Given the description of an element on the screen output the (x, y) to click on. 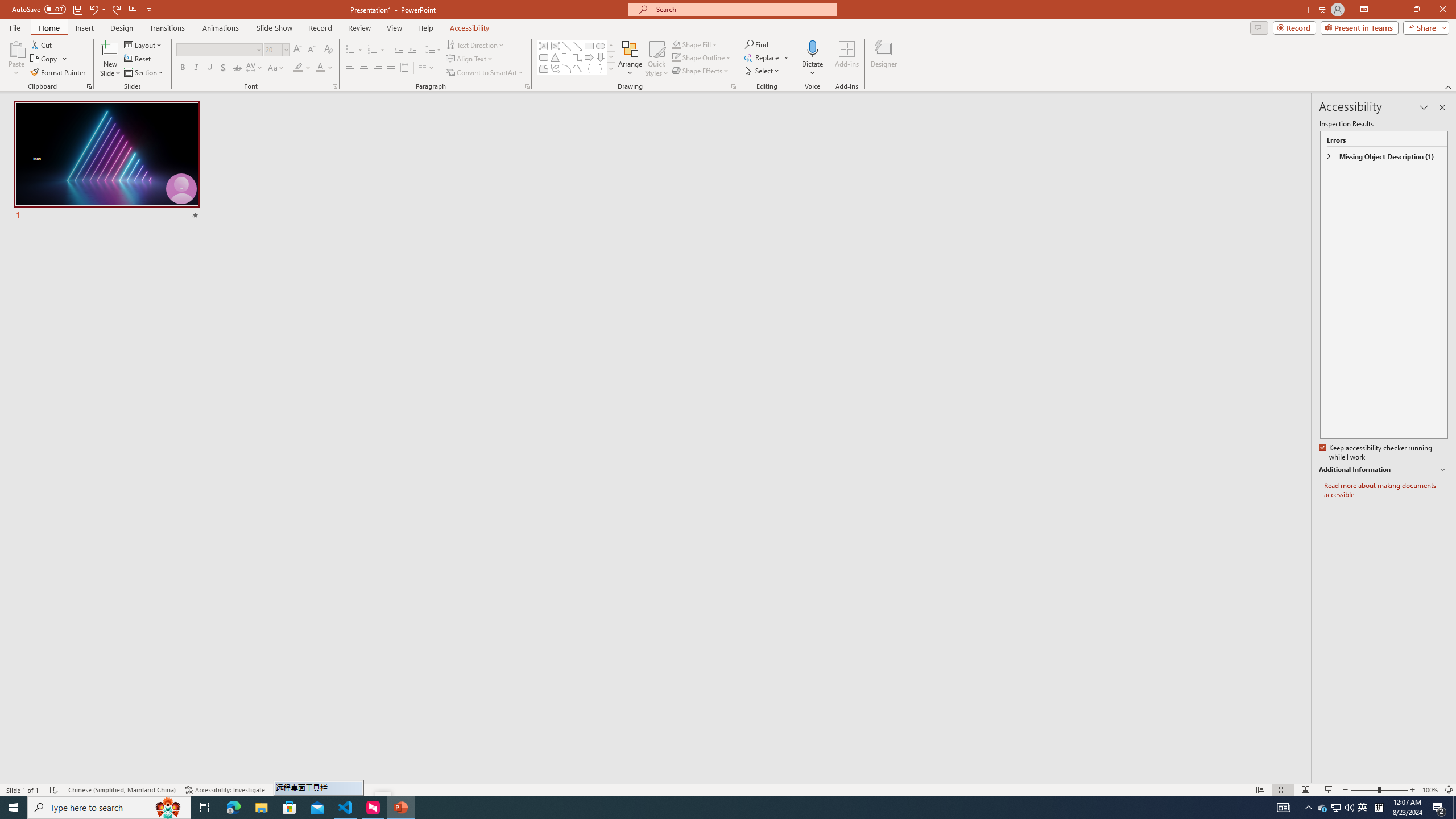
Quick Styles (656, 58)
Vertical Text Box (554, 45)
Shape Outline Blue, Accent 1 (675, 56)
Freeform: Scribble (554, 68)
Reset (138, 58)
Connector: Elbow Arrow (577, 57)
Curve (577, 68)
